Given the description of an element on the screen output the (x, y) to click on. 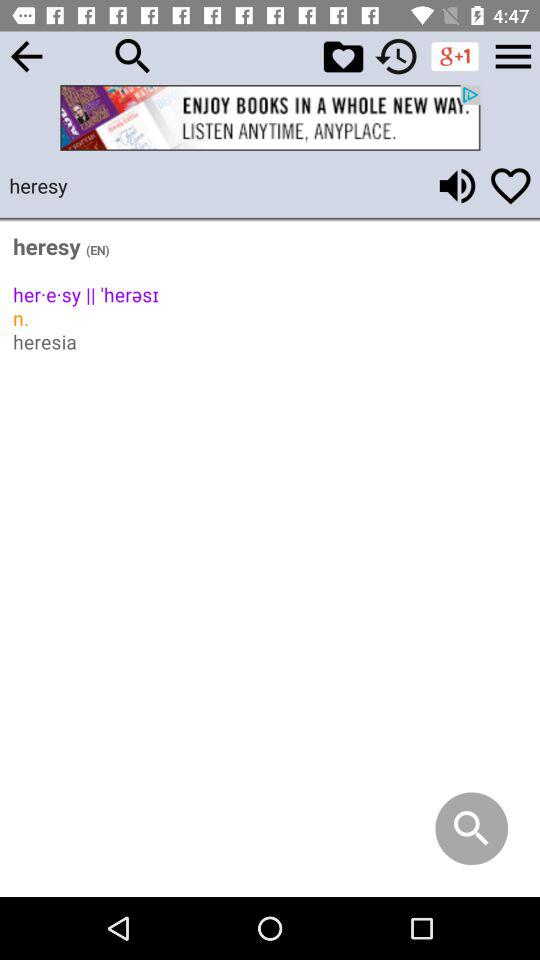
timer (396, 56)
